Given the description of an element on the screen output the (x, y) to click on. 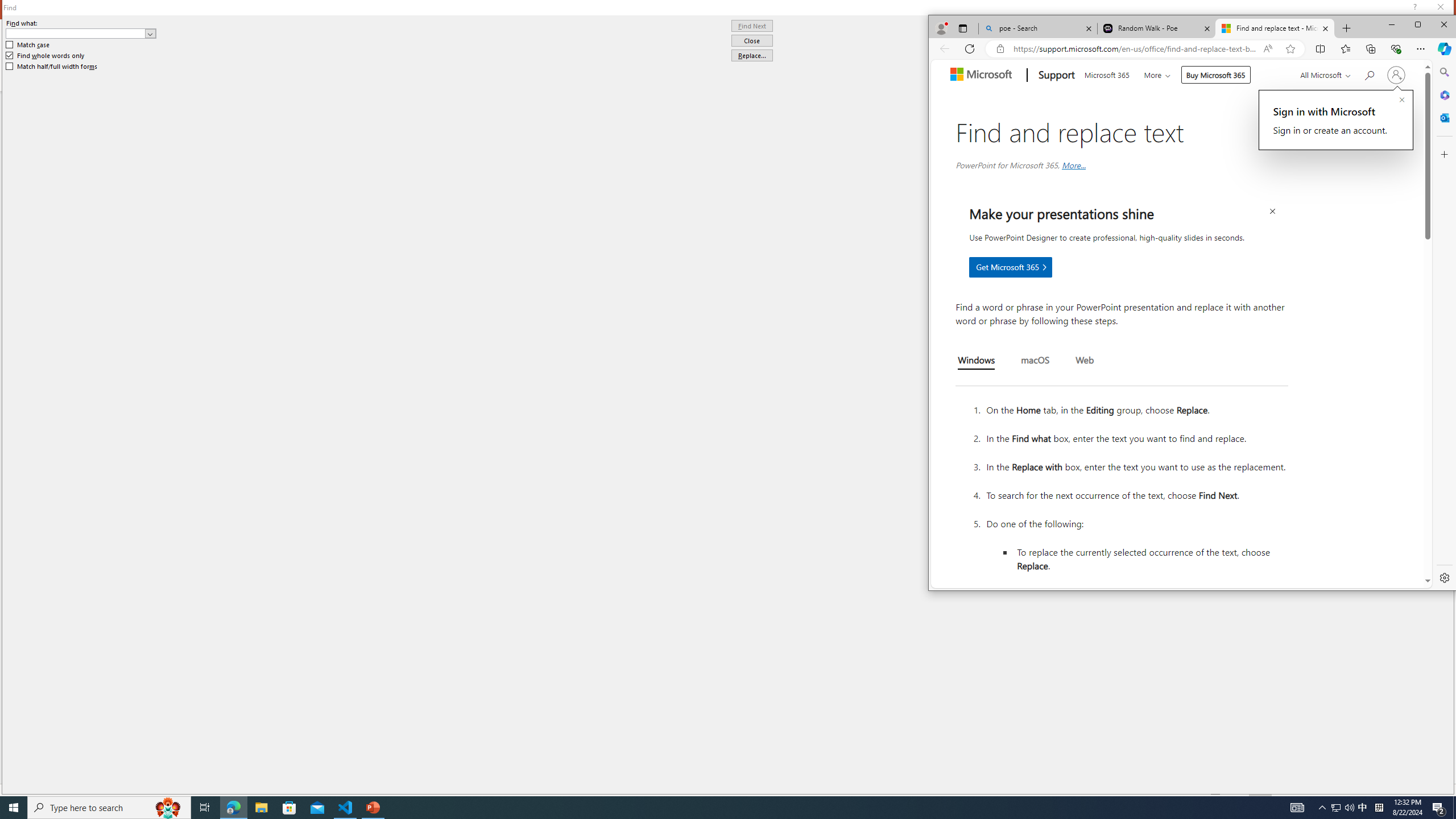
View site information (999, 48)
Microsoft (983, 75)
